Given the description of an element on the screen output the (x, y) to click on. 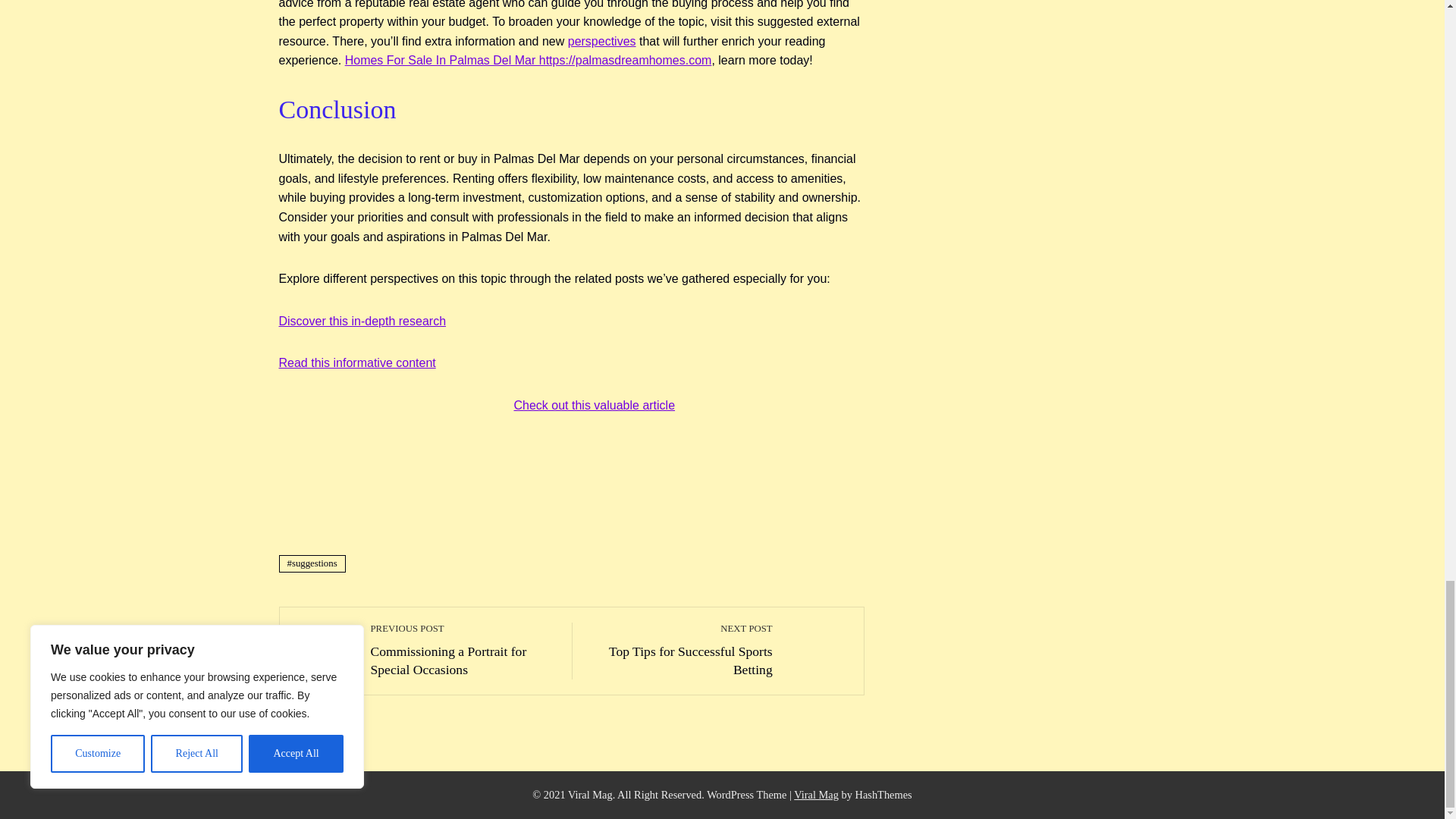
suggestions (312, 563)
Download Viral News (815, 794)
Discover this in-depth research (362, 320)
perspectives (462, 650)
Read this informative content (601, 41)
Check out this valuable article (680, 650)
